Given the description of an element on the screen output the (x, y) to click on. 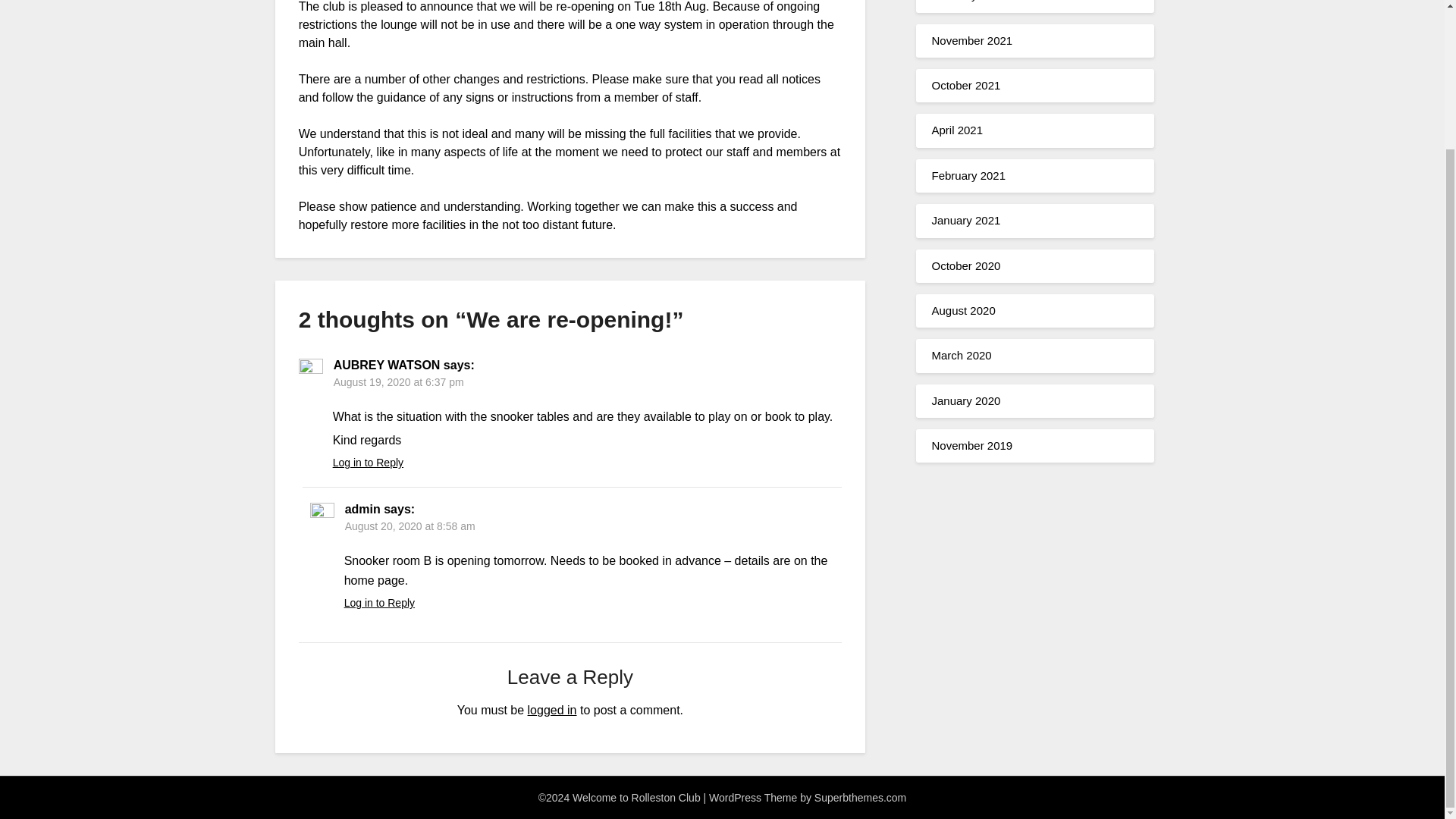
Log in to Reply (368, 462)
February 2021 (968, 174)
logged in (551, 709)
October 2020 (965, 265)
November 2021 (971, 40)
January 2020 (965, 400)
August 20, 2020 at 8:58 am (410, 526)
Log in to Reply (378, 603)
January 2021 (965, 219)
August 19, 2020 at 6:37 pm (398, 381)
March 2020 (961, 354)
April 2021 (956, 129)
August 2020 (962, 309)
February 2022 (968, 0)
October 2021 (965, 84)
